Given the description of an element on the screen output the (x, y) to click on. 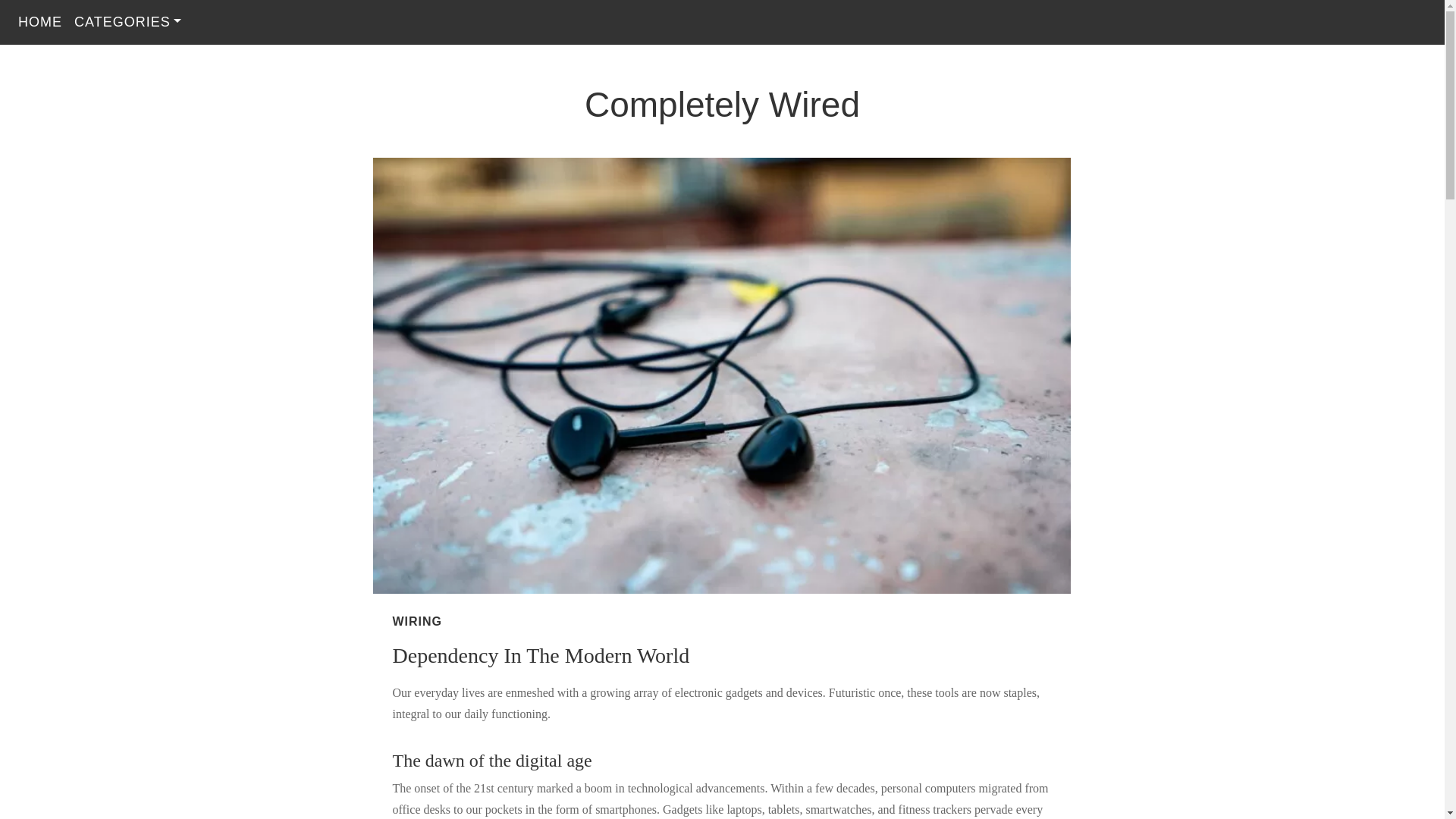
HOME (39, 21)
CATEGORIES (127, 21)
WIRING (416, 621)
Completely Wired (722, 104)
